Given the description of an element on the screen output the (x, y) to click on. 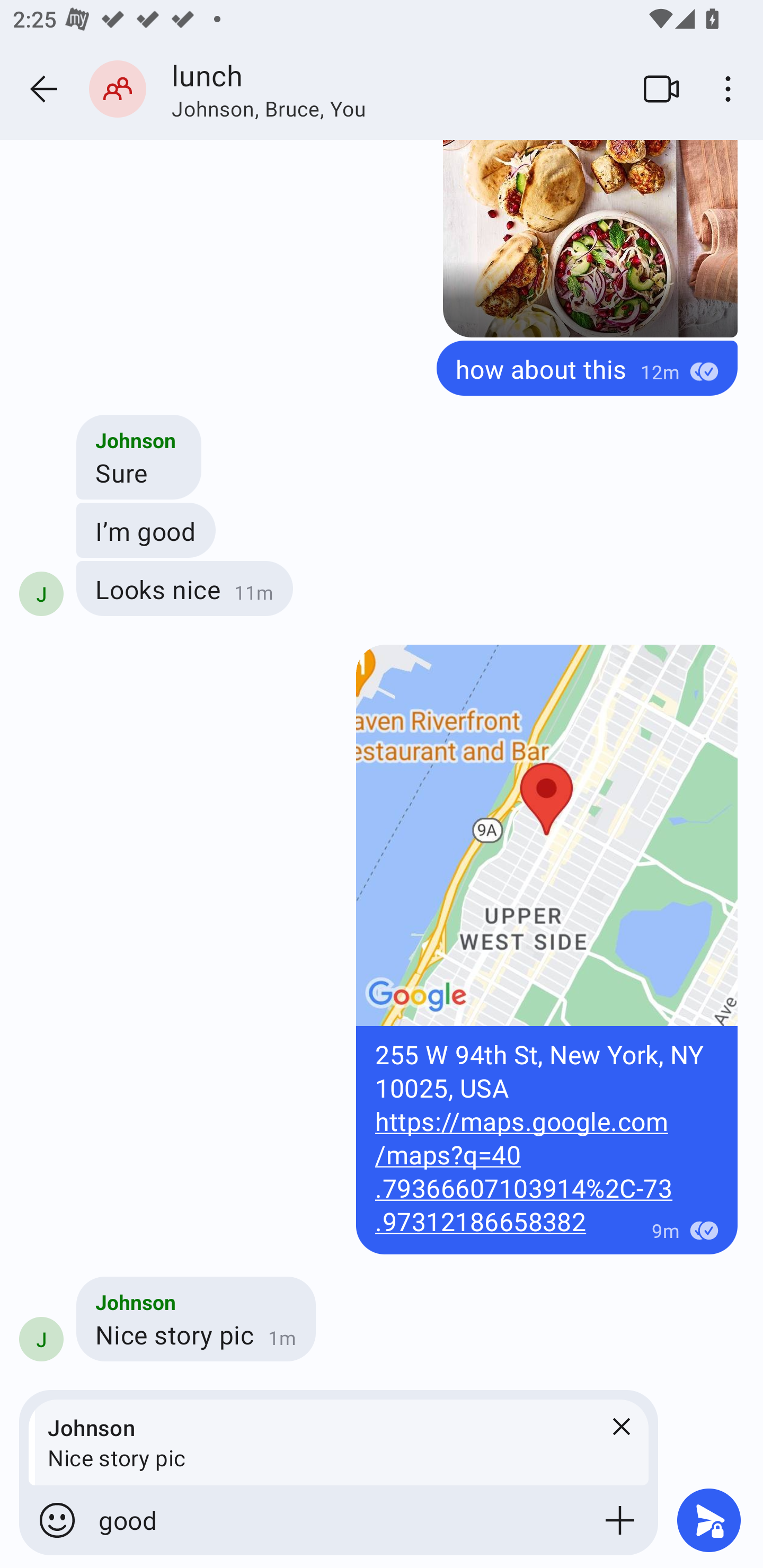
Send message (708, 1520)
